Given the description of an element on the screen output the (x, y) to click on. 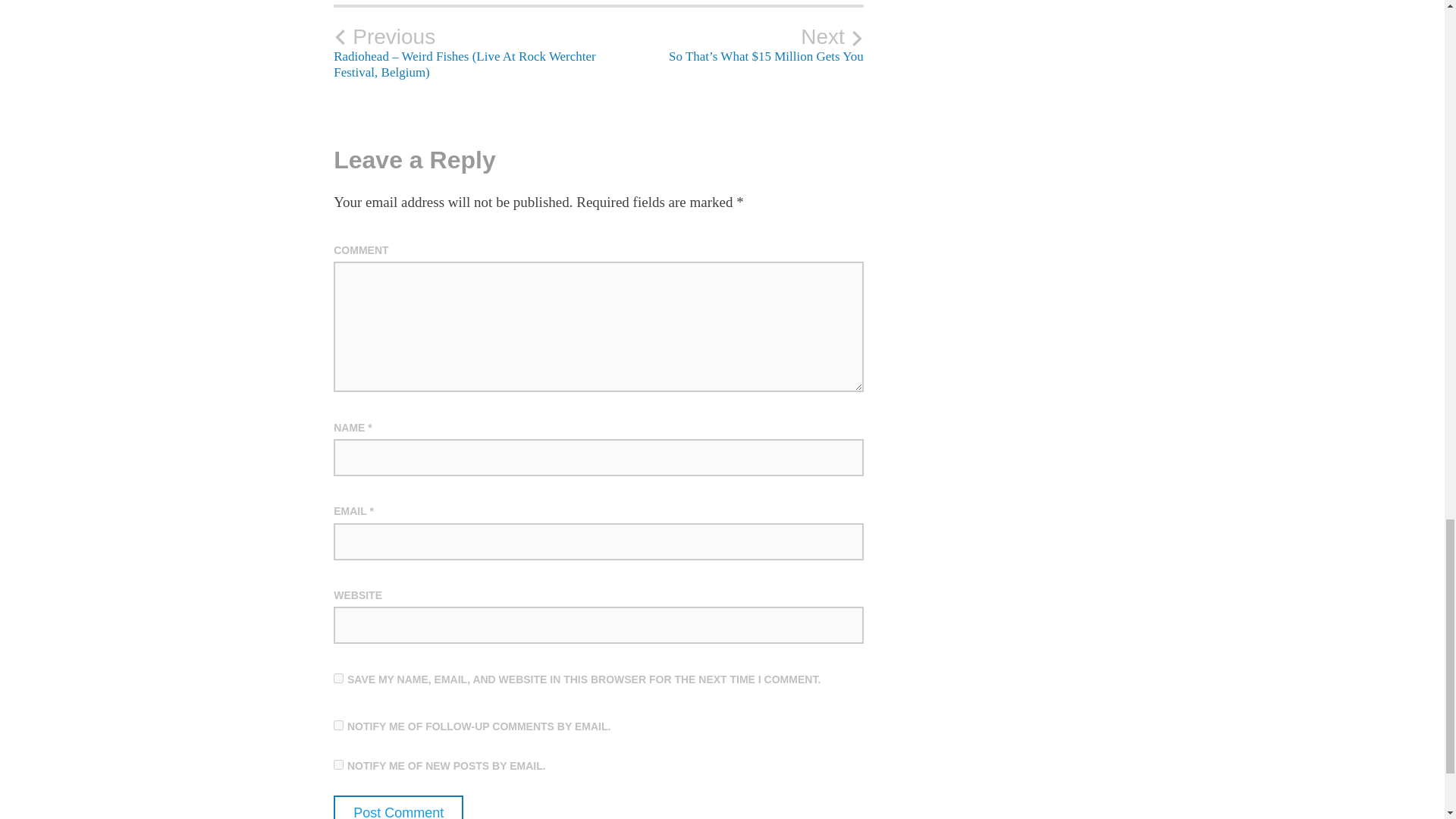
yes (338, 678)
Post Comment (398, 807)
subscribe (338, 725)
subscribe (338, 764)
Post Comment (398, 807)
